Given the description of an element on the screen output the (x, y) to click on. 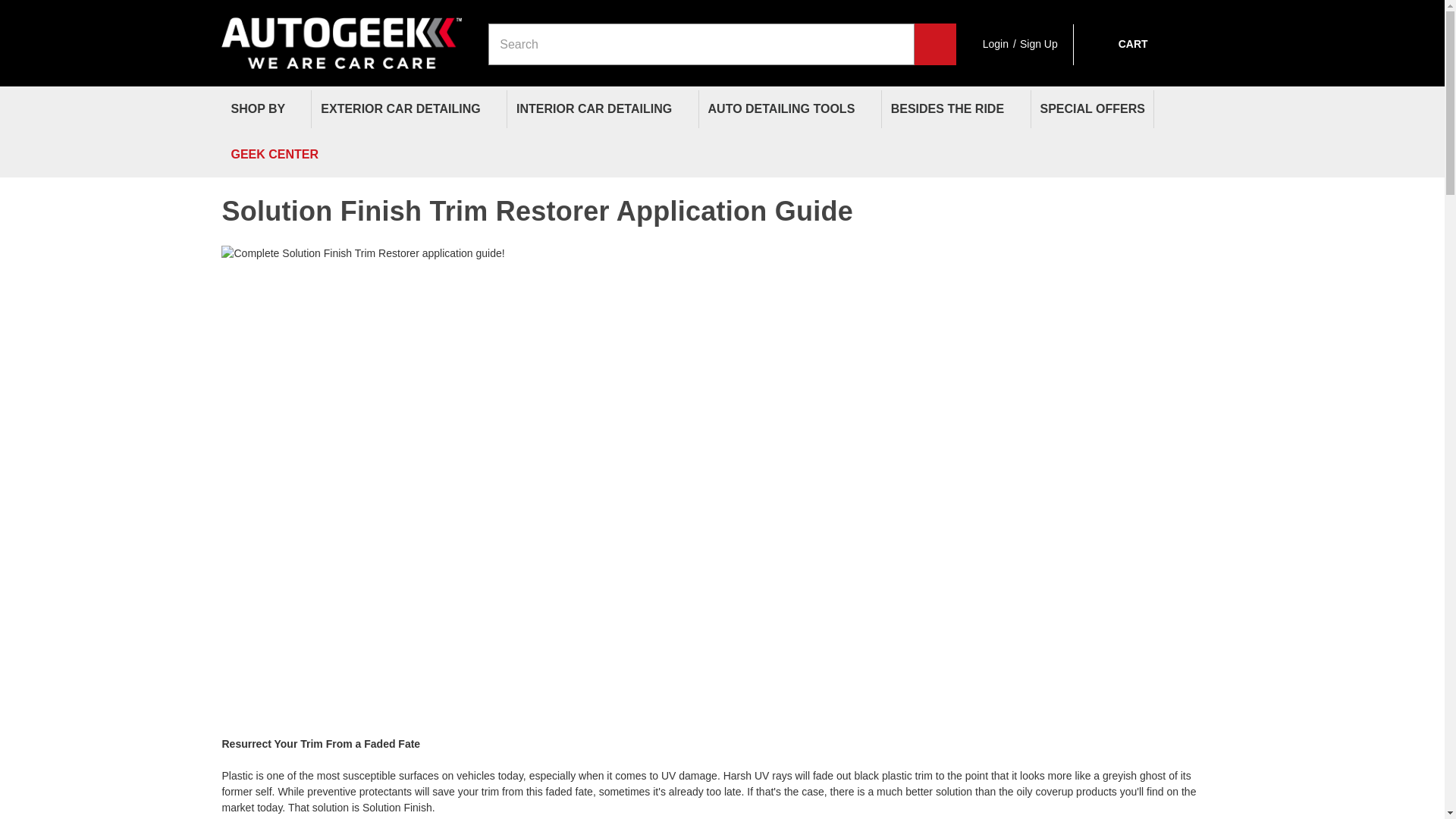
Autogeek.net (341, 35)
Login (995, 44)
Sign Up (1039, 44)
SHOP BY (266, 108)
CART (1117, 44)
